Given the description of an element on the screen output the (x, y) to click on. 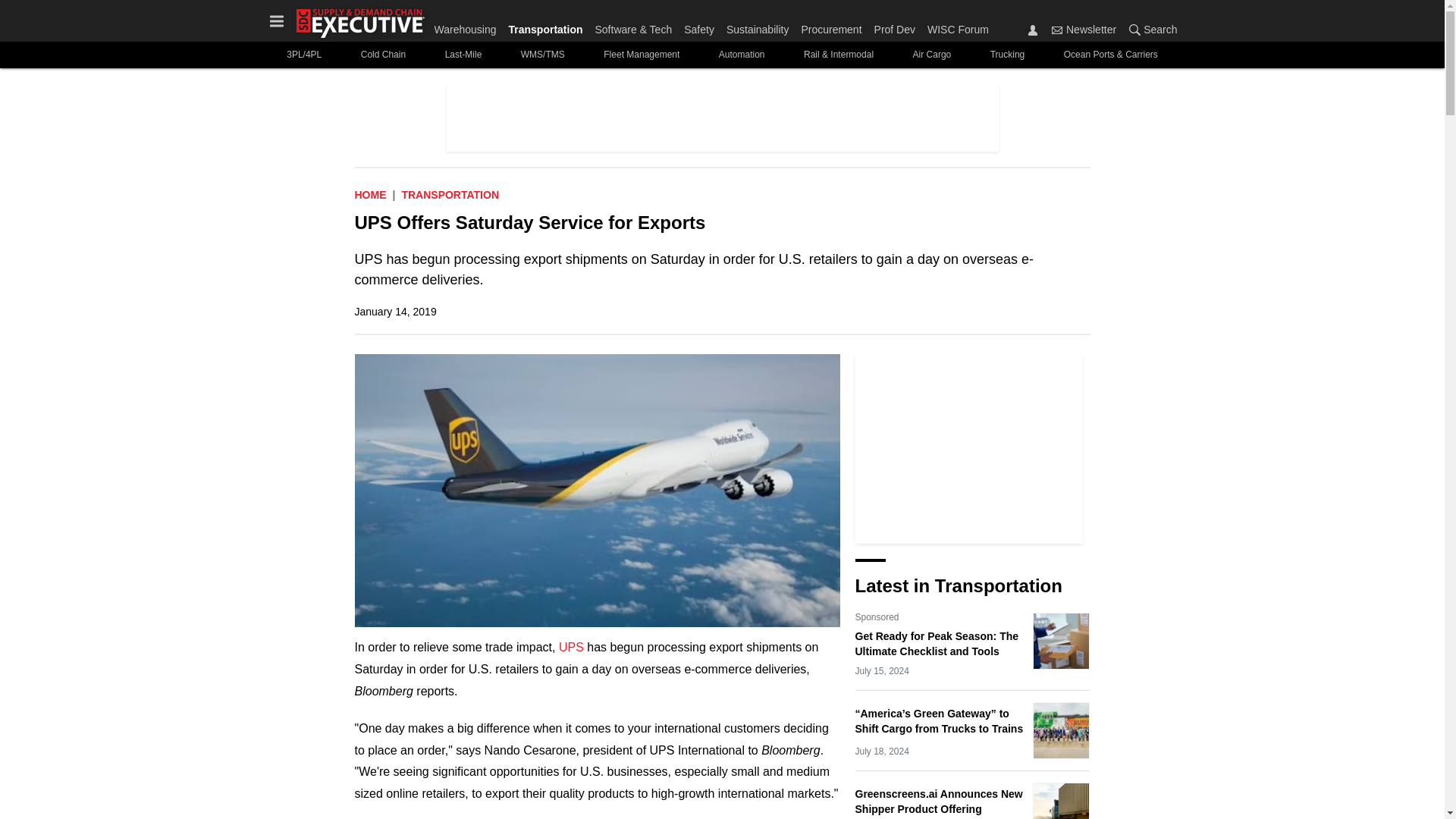
Newsletter (1056, 29)
Procurement (830, 26)
Home (371, 194)
Automation (740, 54)
Last-Mile (462, 54)
Safety (699, 26)
WISC Forum (954, 26)
Transportation (450, 194)
Transportation (545, 26)
Sign In (1032, 29)
Trucking (1007, 54)
3rd party ad content (969, 448)
Prof Dev (894, 26)
Search (1149, 29)
3rd party ad content (721, 117)
